Given the description of an element on the screen output the (x, y) to click on. 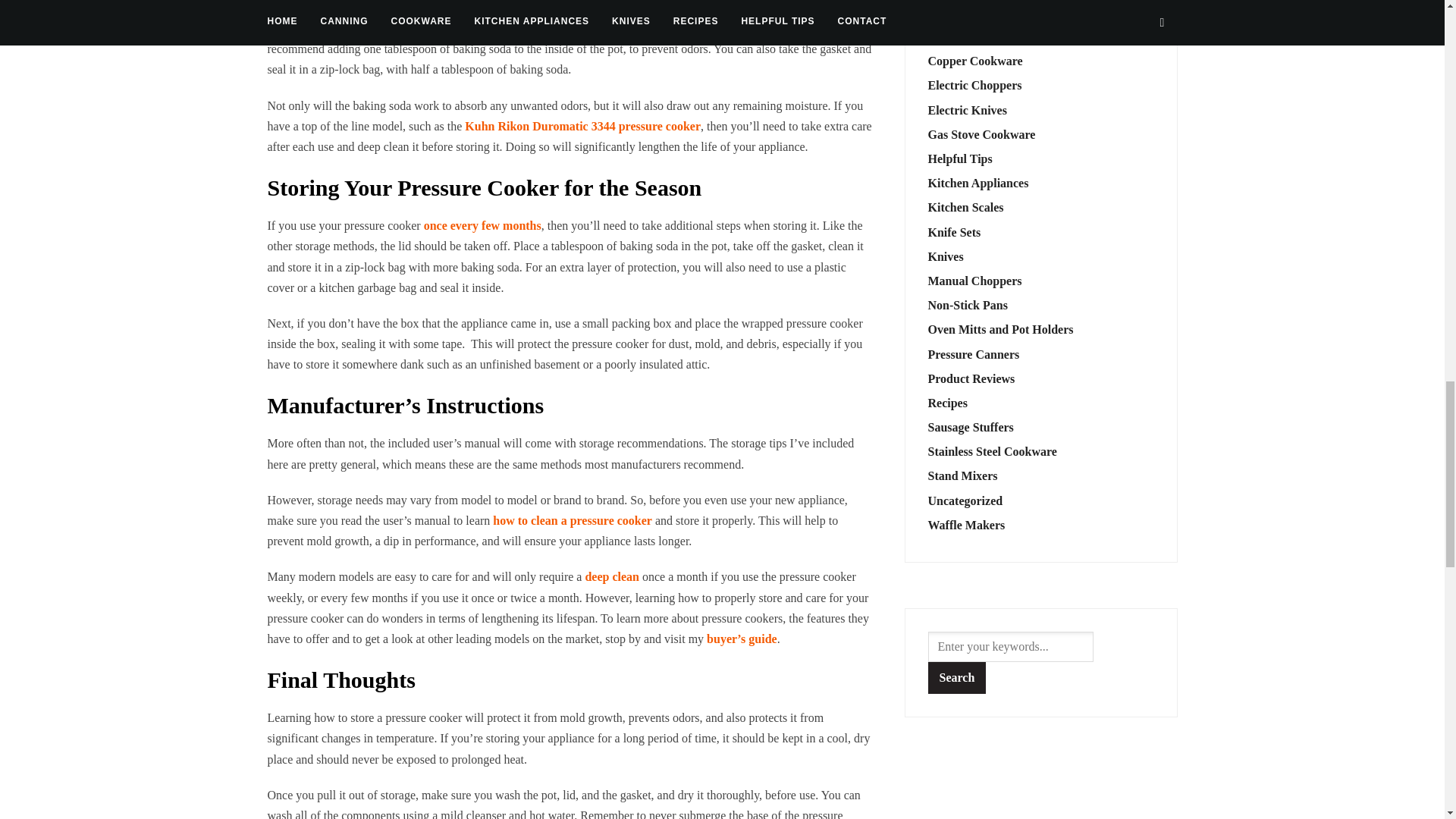
Search (957, 677)
Search (957, 677)
